Given the description of an element on the screen output the (x, y) to click on. 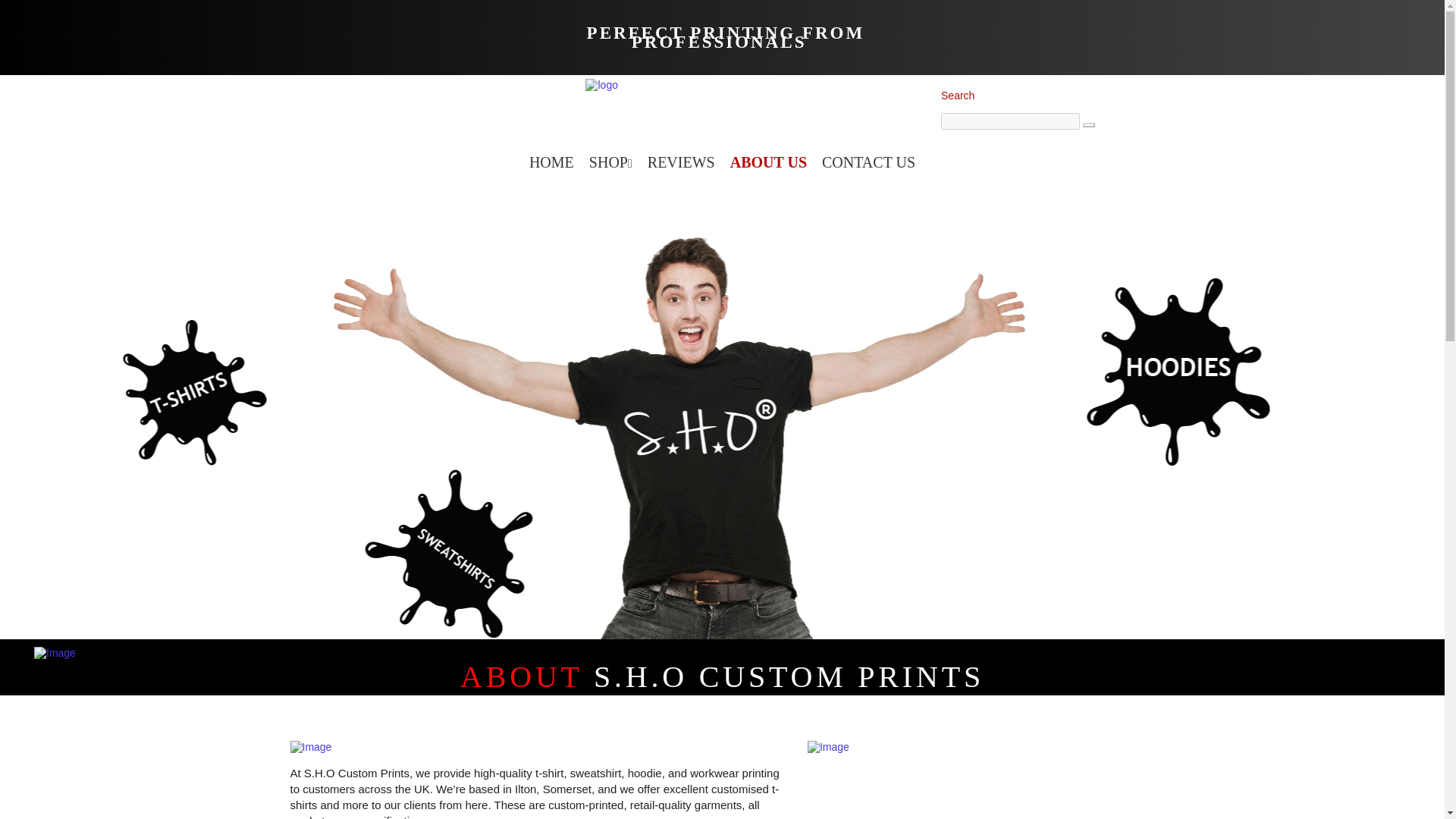
ABOUT US (767, 162)
REVIEWS (681, 162)
HOME (550, 162)
CONTACT US (868, 162)
SHOP (610, 162)
